Given the description of an element on the screen output the (x, y) to click on. 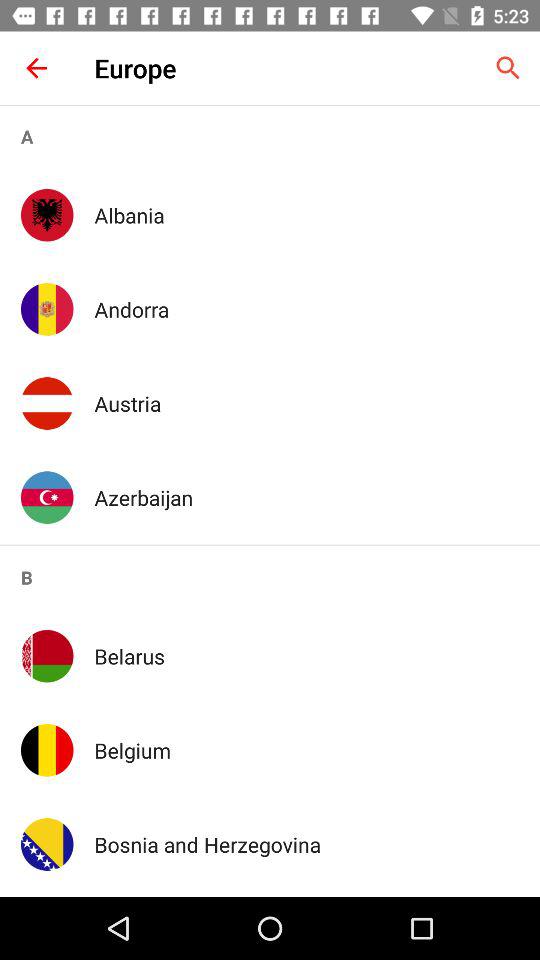
launch the bosnia and herzegovina icon (306, 844)
